Given the description of an element on the screen output the (x, y) to click on. 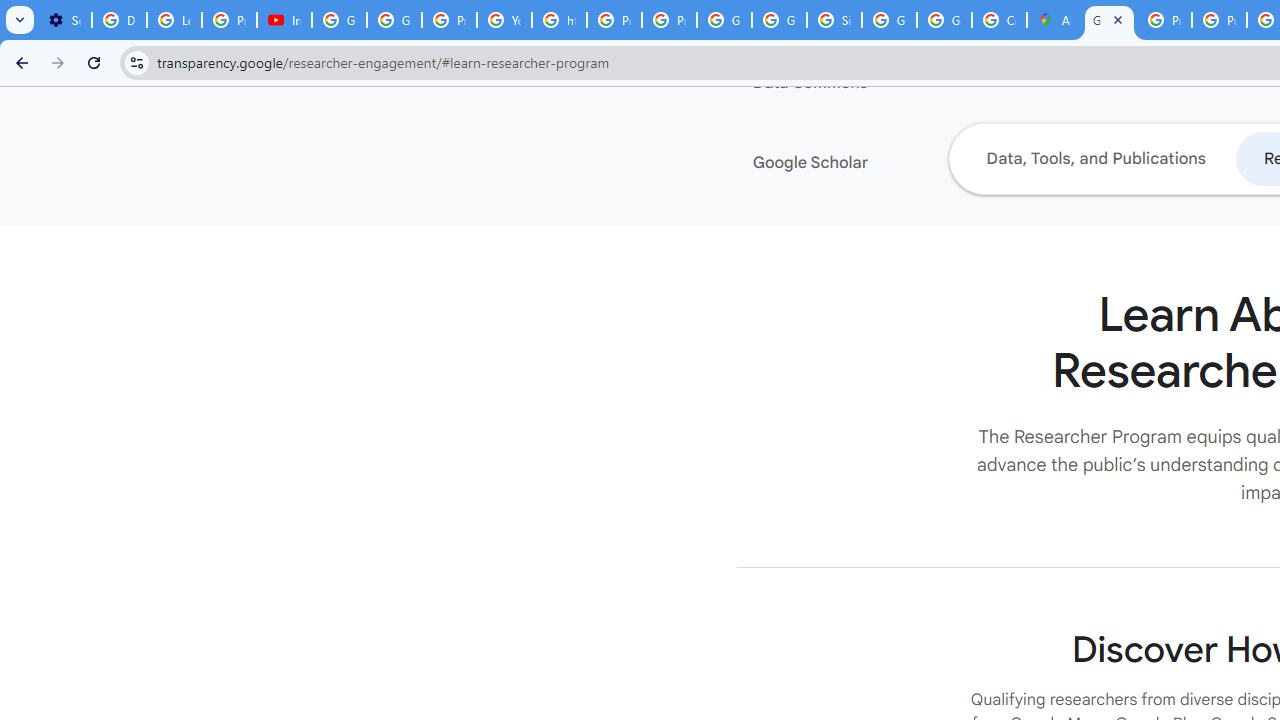
Delete photos & videos - Computer - Google Photos Help (119, 20)
Privacy Help Center - Policies Help (1163, 20)
Privacy Help Center - Policies Help (1218, 20)
Privacy Help Center - Policies Help (614, 20)
Google Scholar (874, 163)
Google Account Help (339, 20)
YouTube (504, 20)
